Given the description of an element on the screen output the (x, y) to click on. 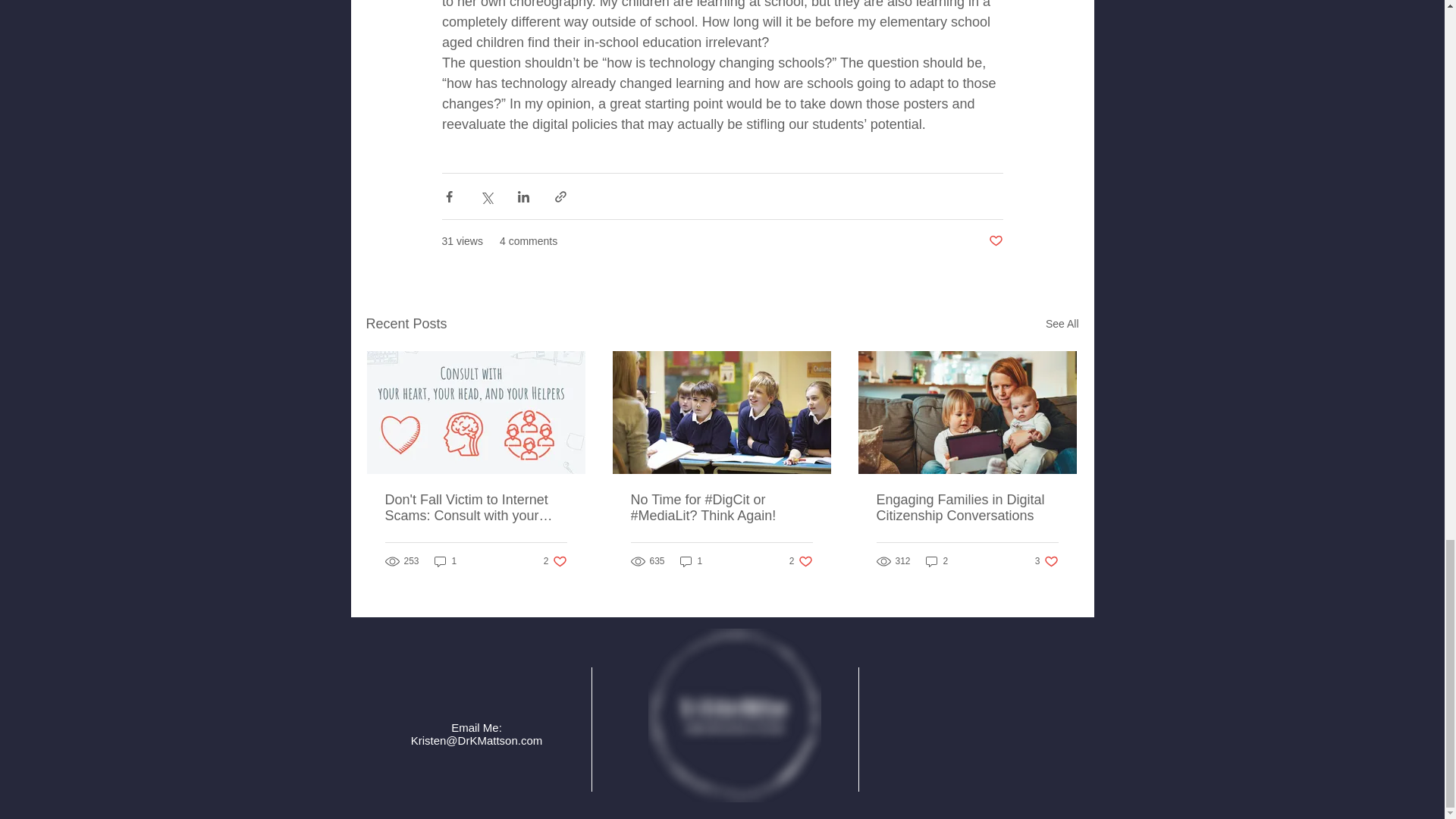
1 (691, 561)
1 (555, 561)
2 (445, 561)
Post not marked as liked (937, 561)
Engaging Families in Digital Citizenship Conversations (995, 241)
See All (1046, 561)
